Given the description of an element on the screen output the (x, y) to click on. 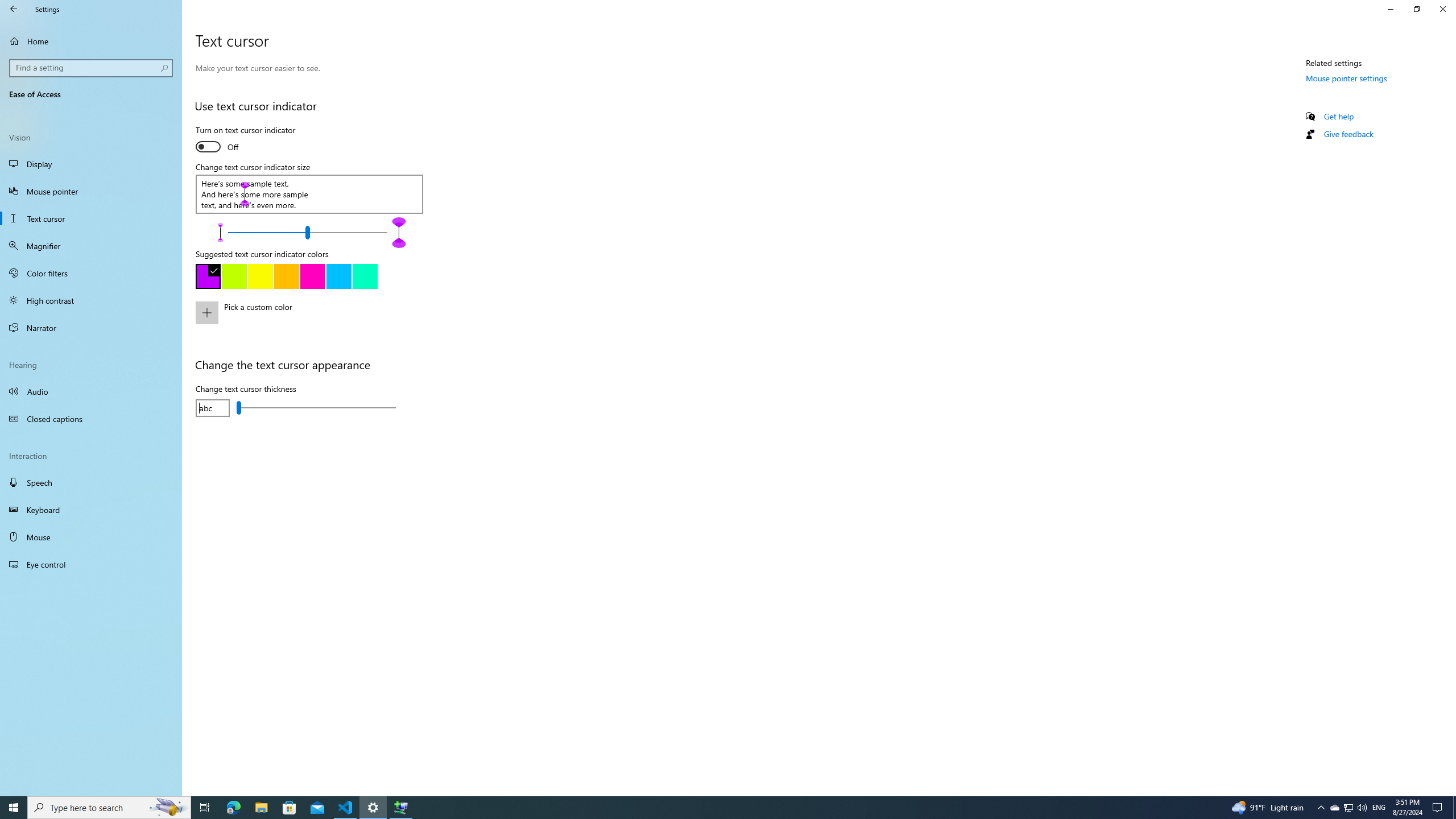
High contrast (91, 299)
Mouse pointer settings (1346, 77)
Get help (1338, 116)
Mouse pointer (91, 190)
Speech (91, 482)
Closed captions (91, 418)
Turn on text cursor indicator (245, 139)
Pink (311, 276)
